Given the description of an element on the screen output the (x, y) to click on. 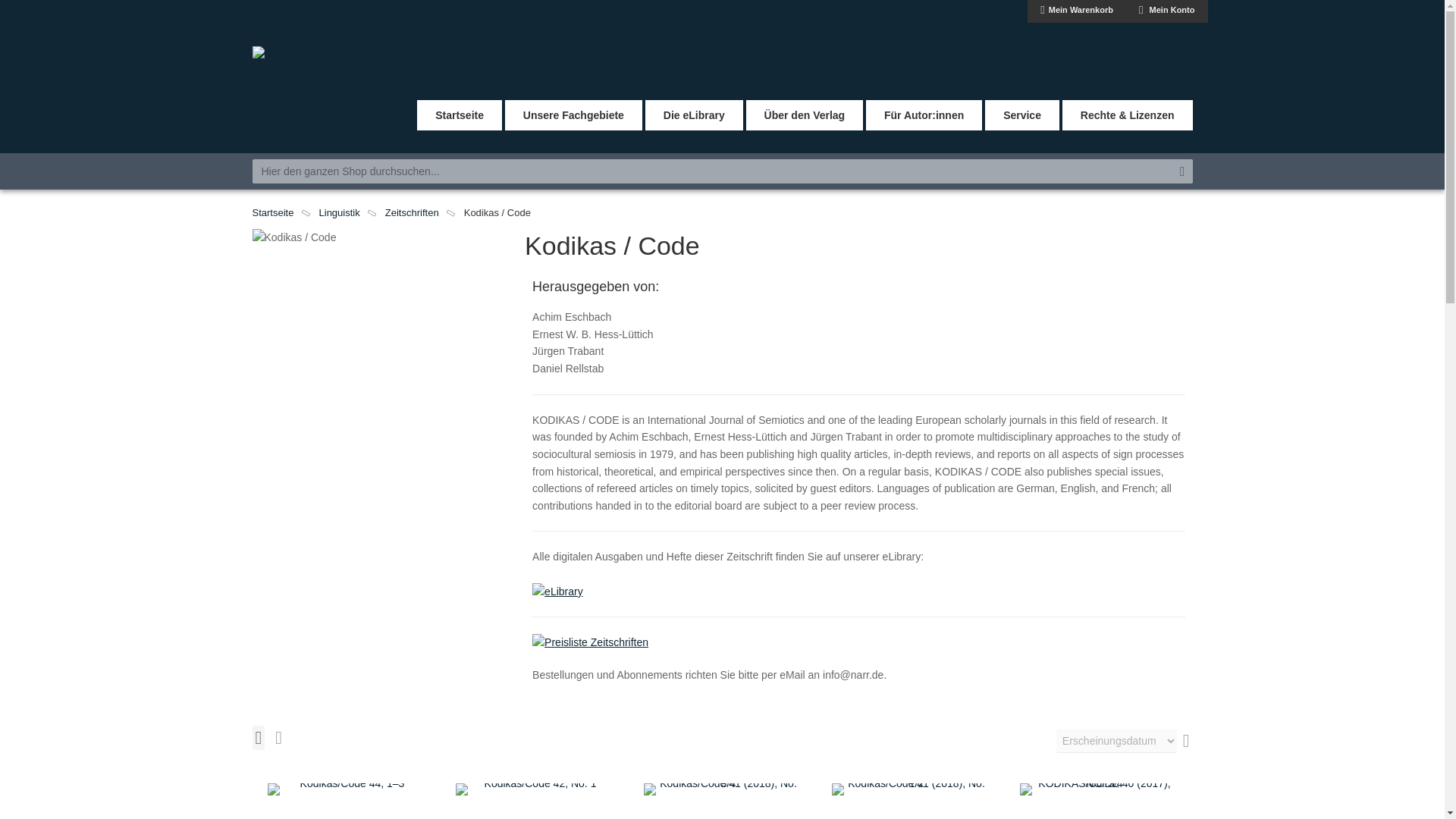
Zeitschriften (412, 212)
Die eLibrary (693, 114)
Unsere Fachgebiete (573, 114)
Linguistik (338, 212)
Mein Warenkorb (1076, 11)
Startseite (272, 212)
Mein Konto (1166, 11)
Zur Startseite (272, 212)
Startseite (459, 114)
Service (1022, 114)
